Given the description of an element on the screen output the (x, y) to click on. 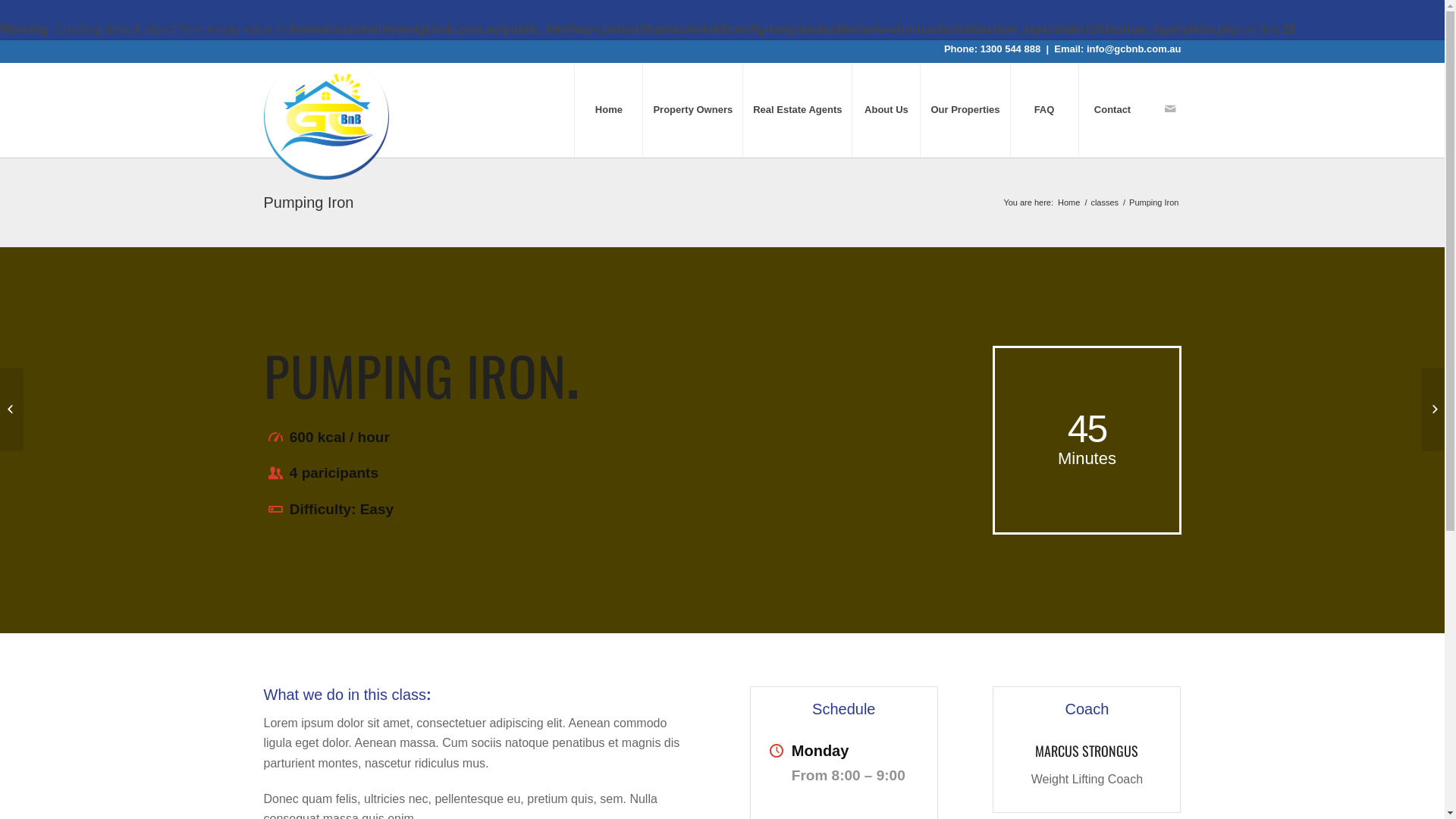
Our Properties Element type: text (964, 109)
About Us Element type: text (885, 109)
FAQ Element type: text (1044, 109)
Home Element type: text (608, 109)
Pumping Iron Element type: text (308, 202)
Home Element type: text (1068, 202)
classes Element type: text (1104, 202)
1300 544 888 Element type: text (1010, 48)
Mail Element type: hover (1169, 108)
Property Owners Element type: text (692, 109)
info@gcbnb.com.au Element type: text (1133, 48)
Real Estate Agents Element type: text (796, 109)
Contact Element type: text (1112, 109)
